Given the description of an element on the screen output the (x, y) to click on. 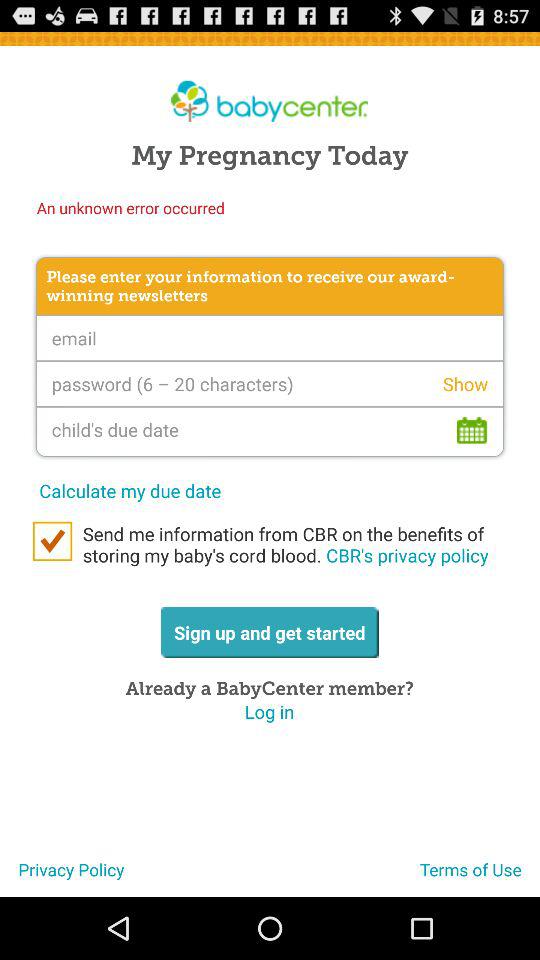
enter password (270, 383)
